Given the description of an element on the screen output the (x, y) to click on. 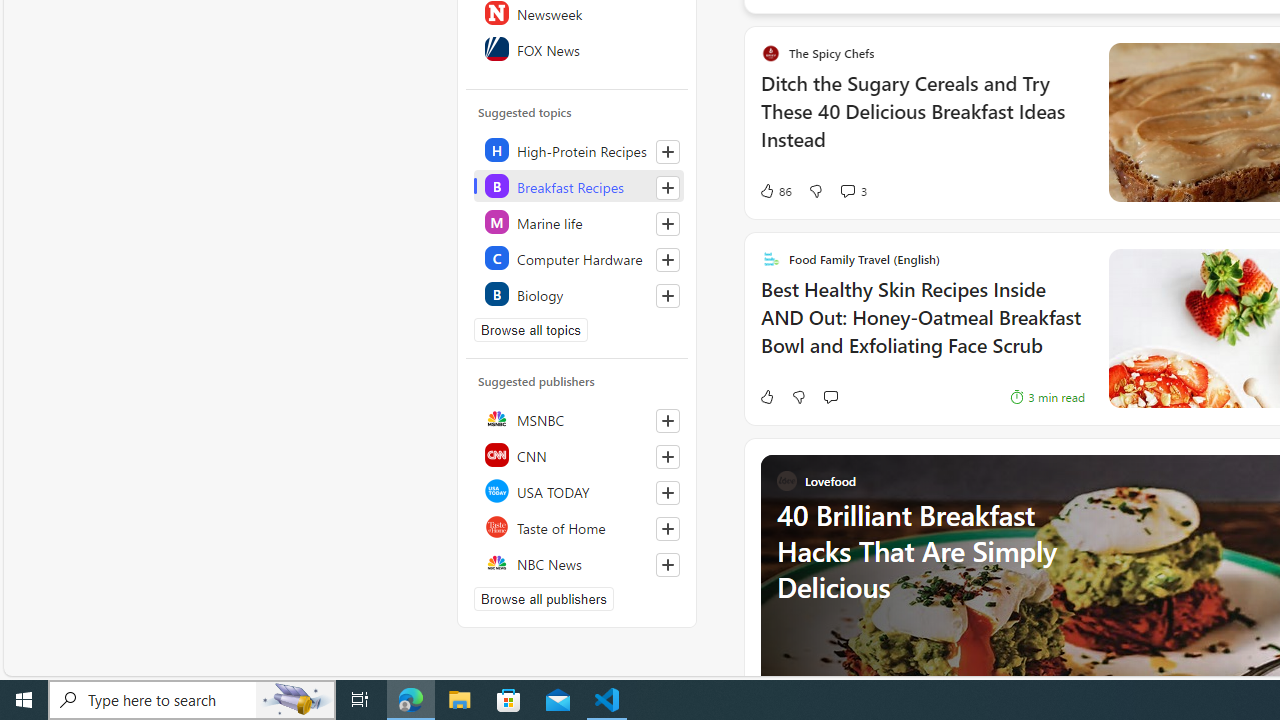
Like (766, 396)
View comments 3 Comment (847, 190)
View comments 3 Comment (852, 191)
FOX News (578, 48)
Start the conversation (829, 396)
Browse all topics (530, 330)
Start the conversation (830, 396)
MSNBC (578, 418)
